Given the description of an element on the screen output the (x, y) to click on. 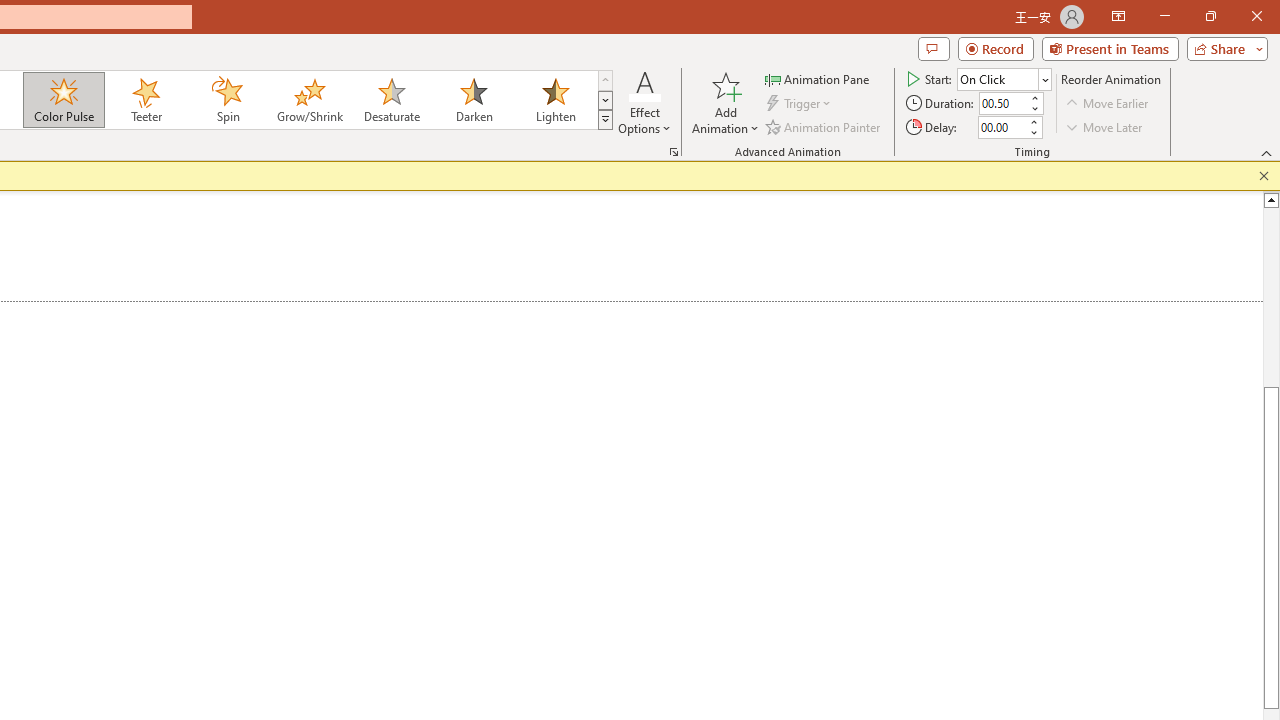
More (1033, 121)
Teeter (145, 100)
Grow/Shrink (309, 100)
